Given the description of an element on the screen output the (x, y) to click on. 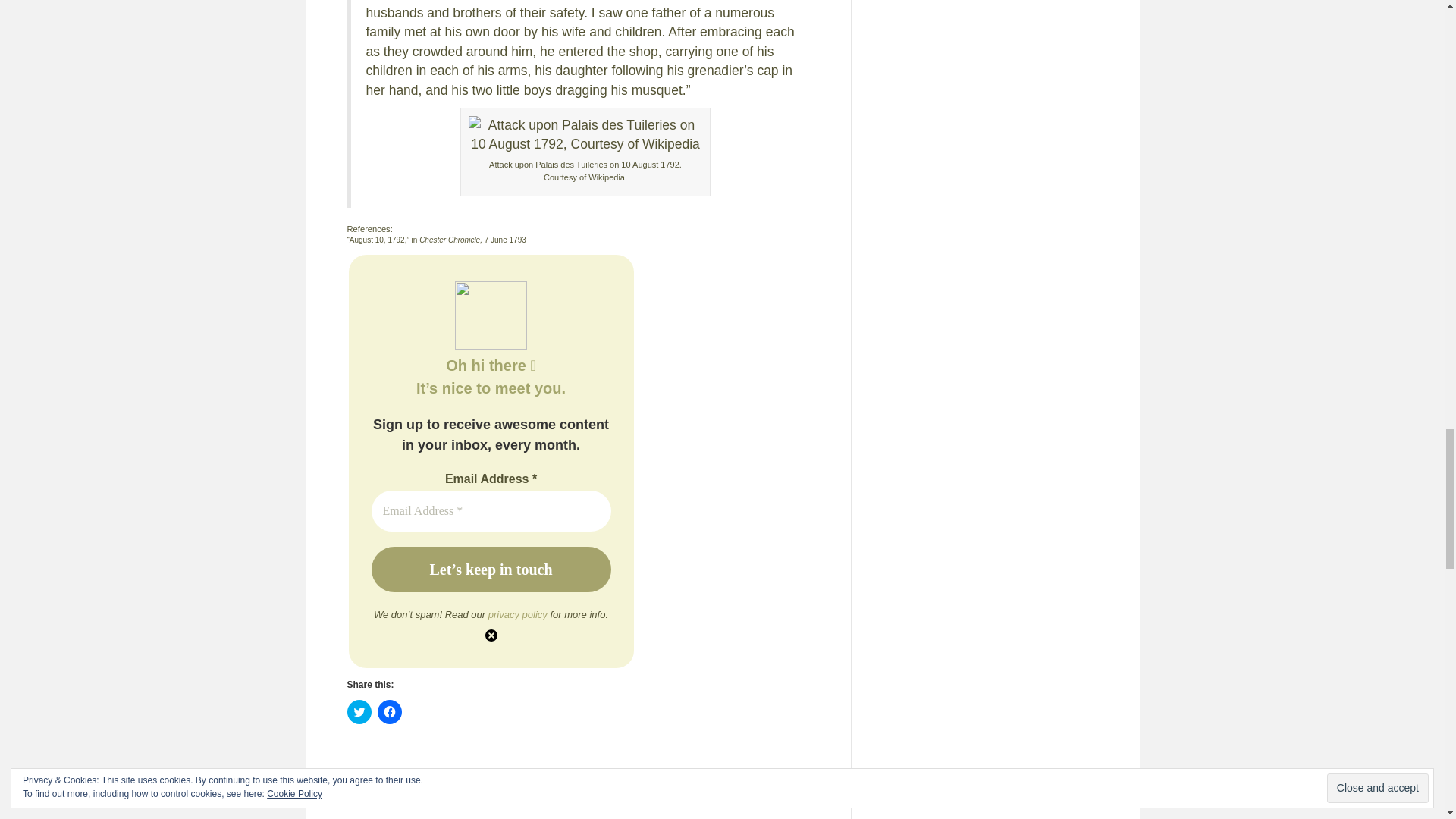
Email Address (491, 510)
privacy policy (517, 614)
Click to share on Twitter (359, 711)
Click to share on Facebook (389, 711)
France (411, 776)
